Given the description of an element on the screen output the (x, y) to click on. 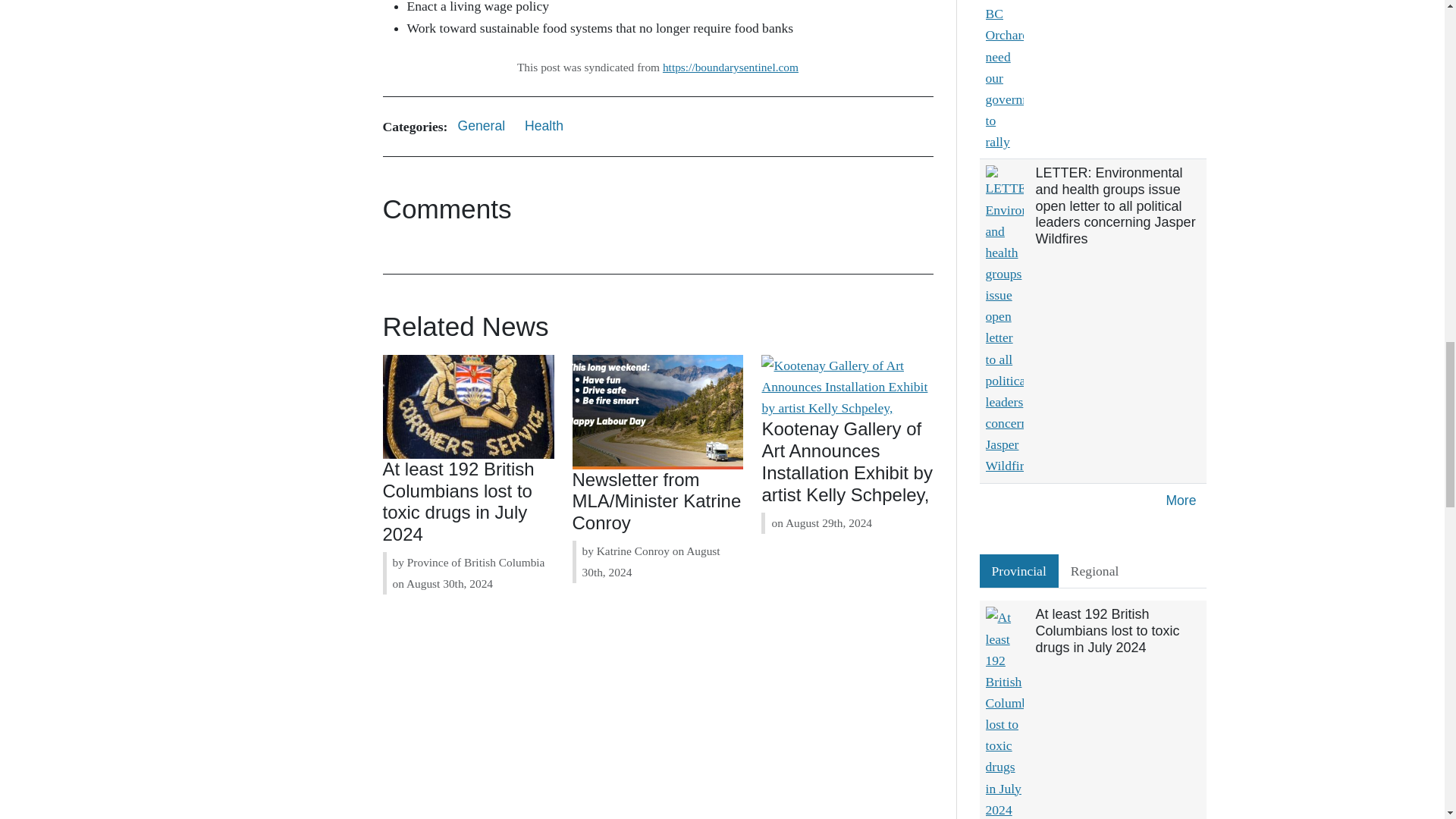
General (480, 126)
Health (544, 126)
